Given the description of an element on the screen output the (x, y) to click on. 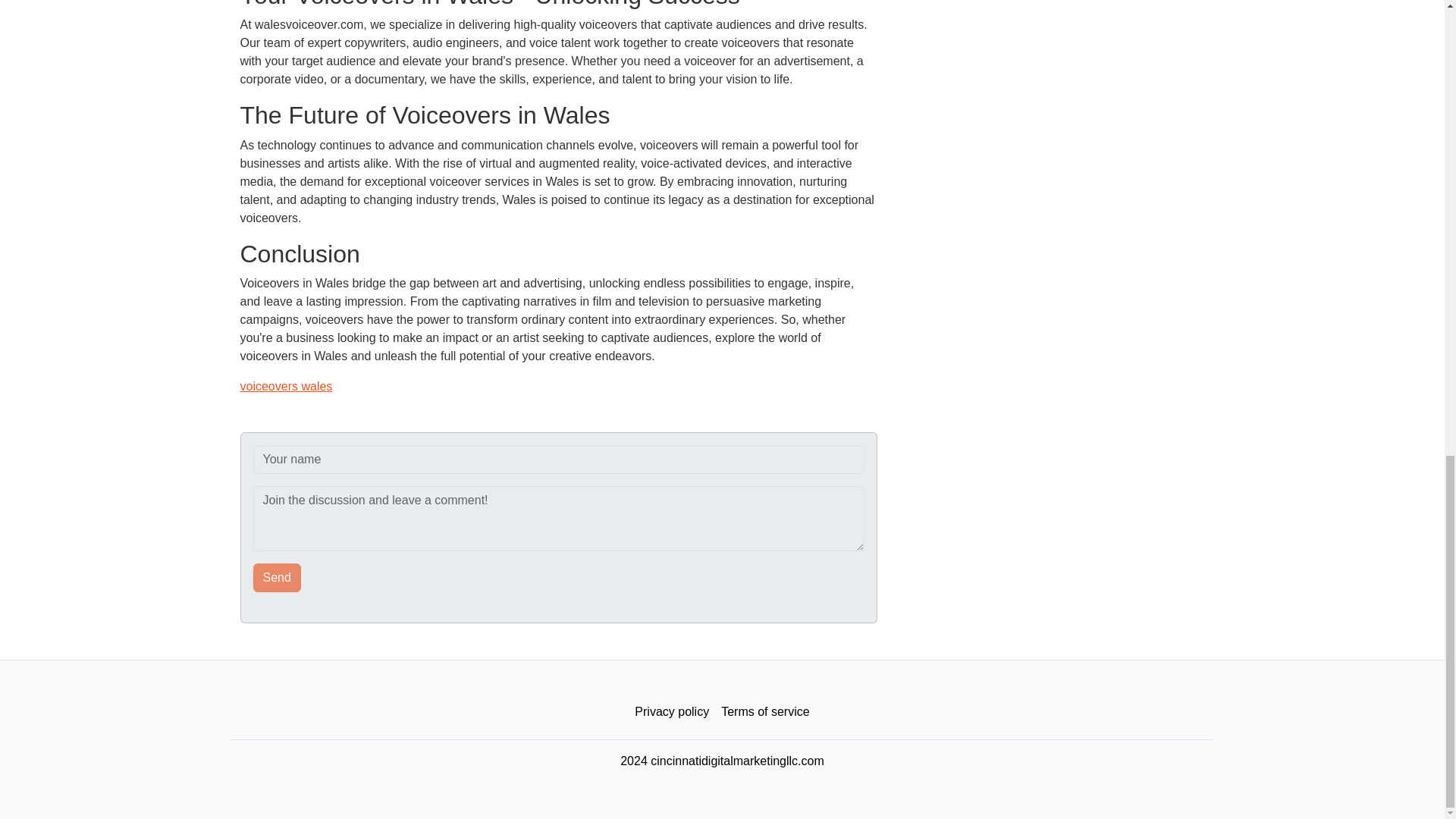
Privacy policy (671, 711)
Send (277, 577)
Terms of service (764, 711)
Send (277, 577)
voiceovers wales (285, 386)
